Given the description of an element on the screen output the (x, y) to click on. 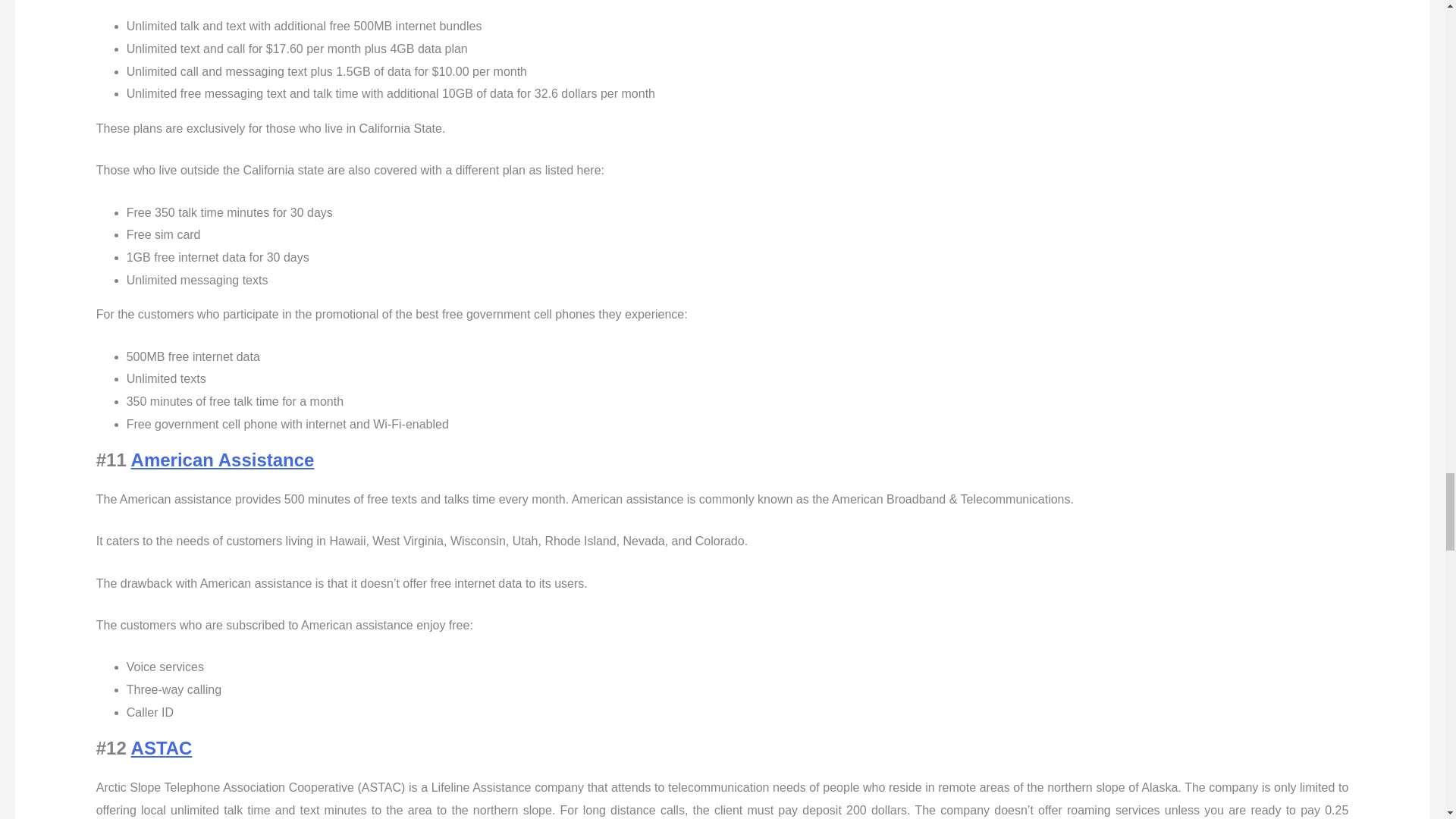
American Assistance (222, 459)
ASTAC (161, 747)
